Given the description of an element on the screen output the (x, y) to click on. 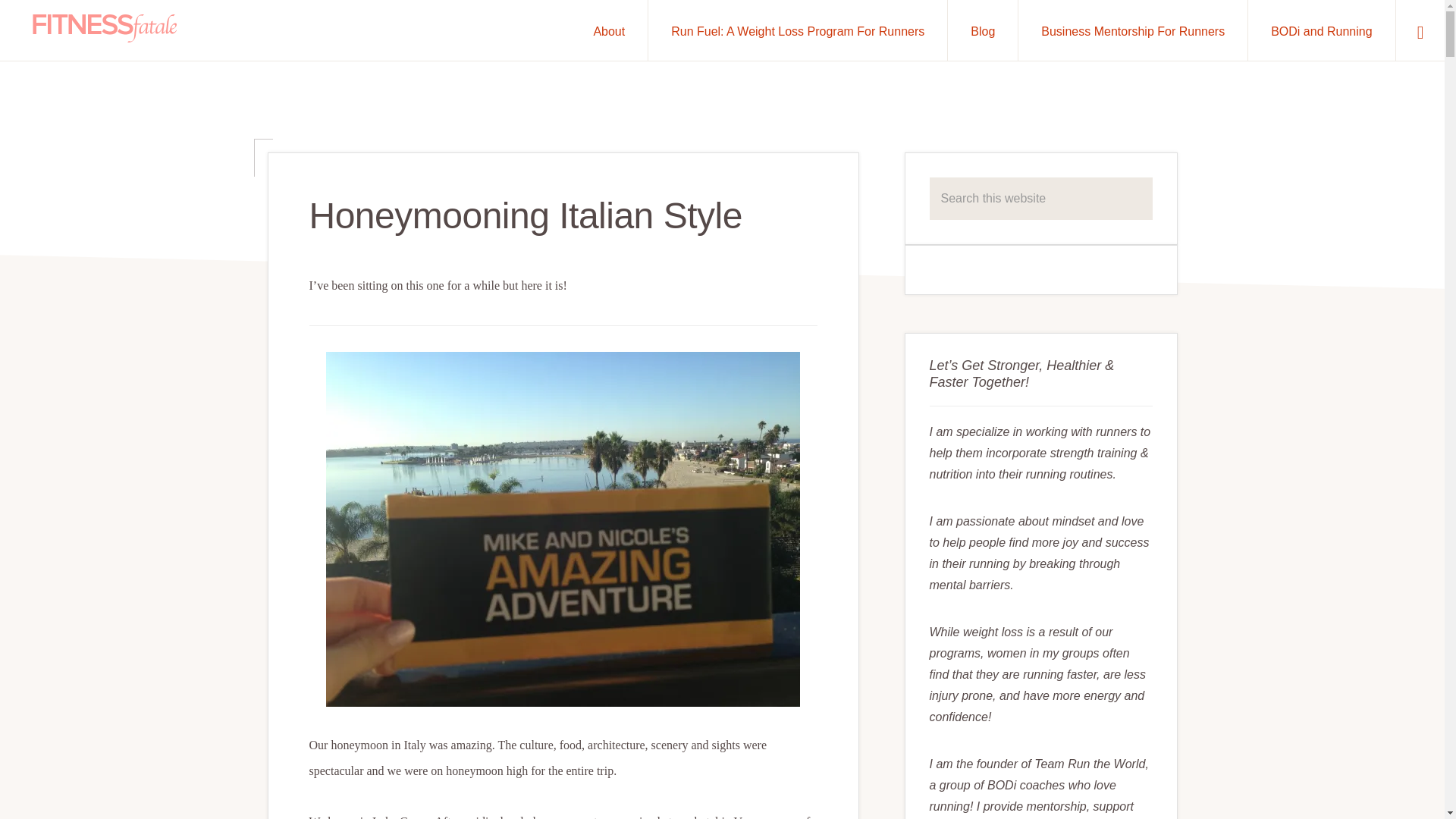
Blog (982, 30)
Business Mentorship For Runners (1132, 30)
Run Fuel: A Weight Loss Program For Runners (797, 30)
BODi and Running (1320, 30)
About (608, 30)
